Given the description of an element on the screen output the (x, y) to click on. 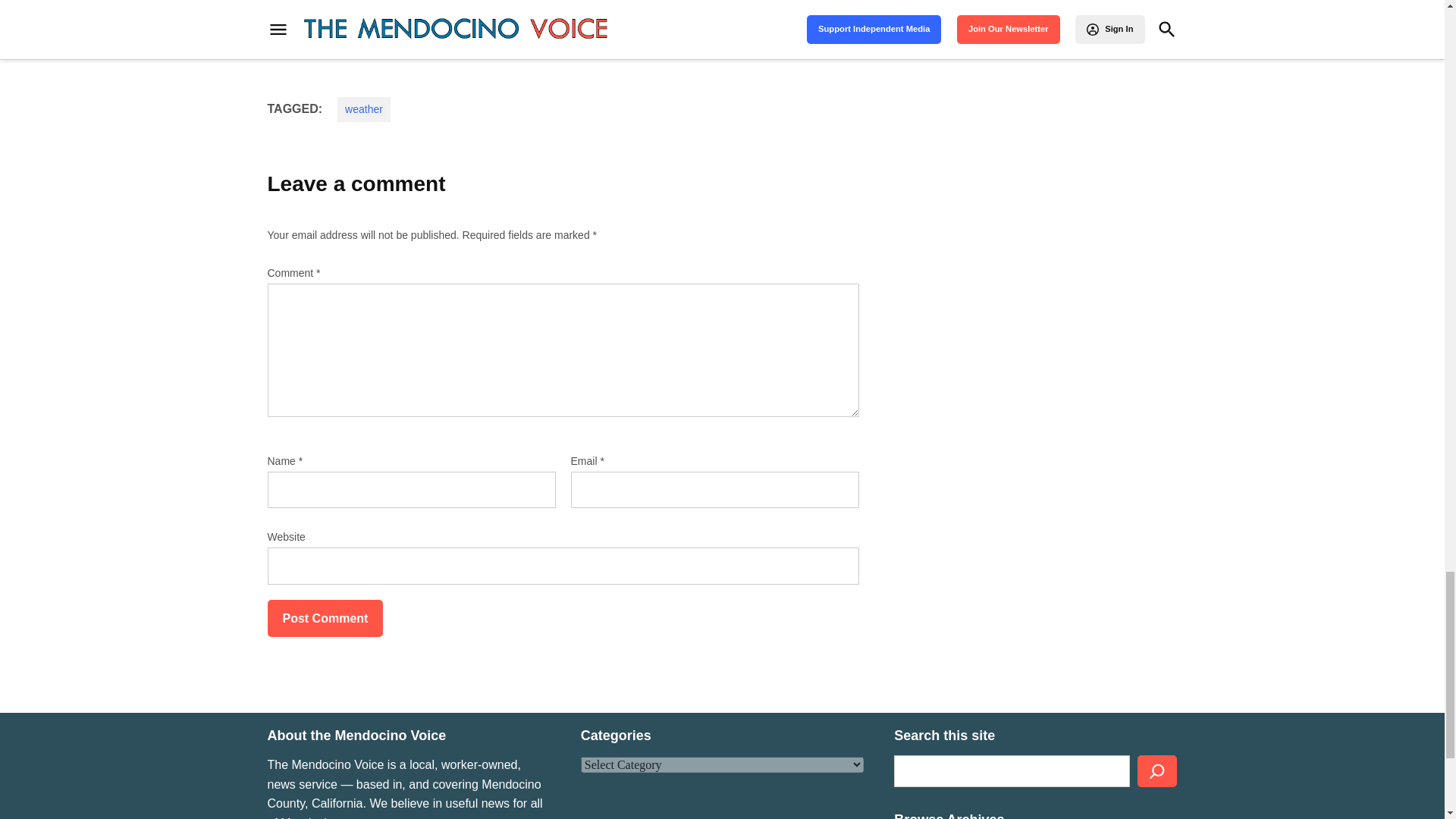
Post Comment (324, 618)
